Given the description of an element on the screen output the (x, y) to click on. 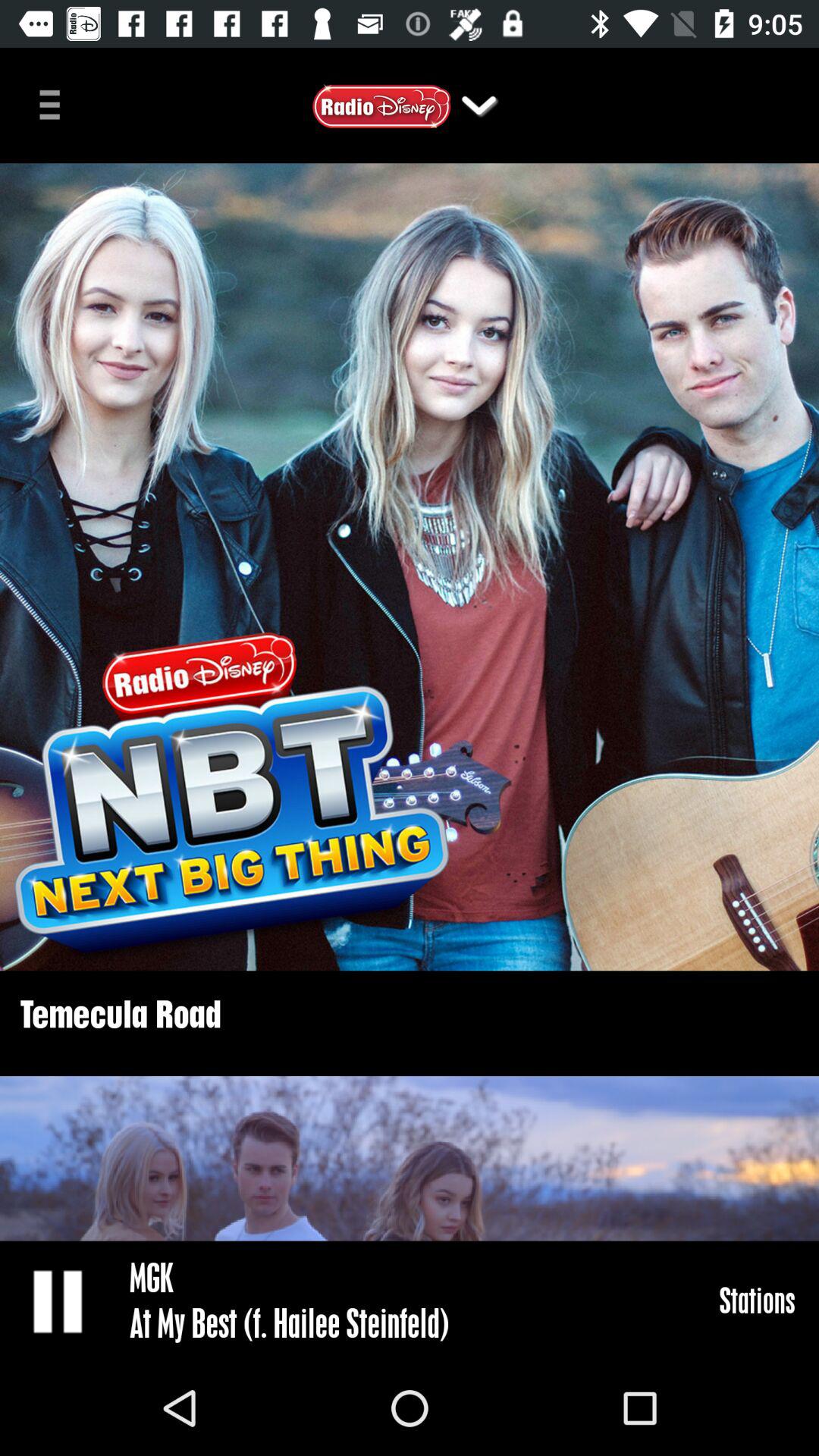
select the icon at the top left corner (55, 103)
